Given the description of an element on the screen output the (x, y) to click on. 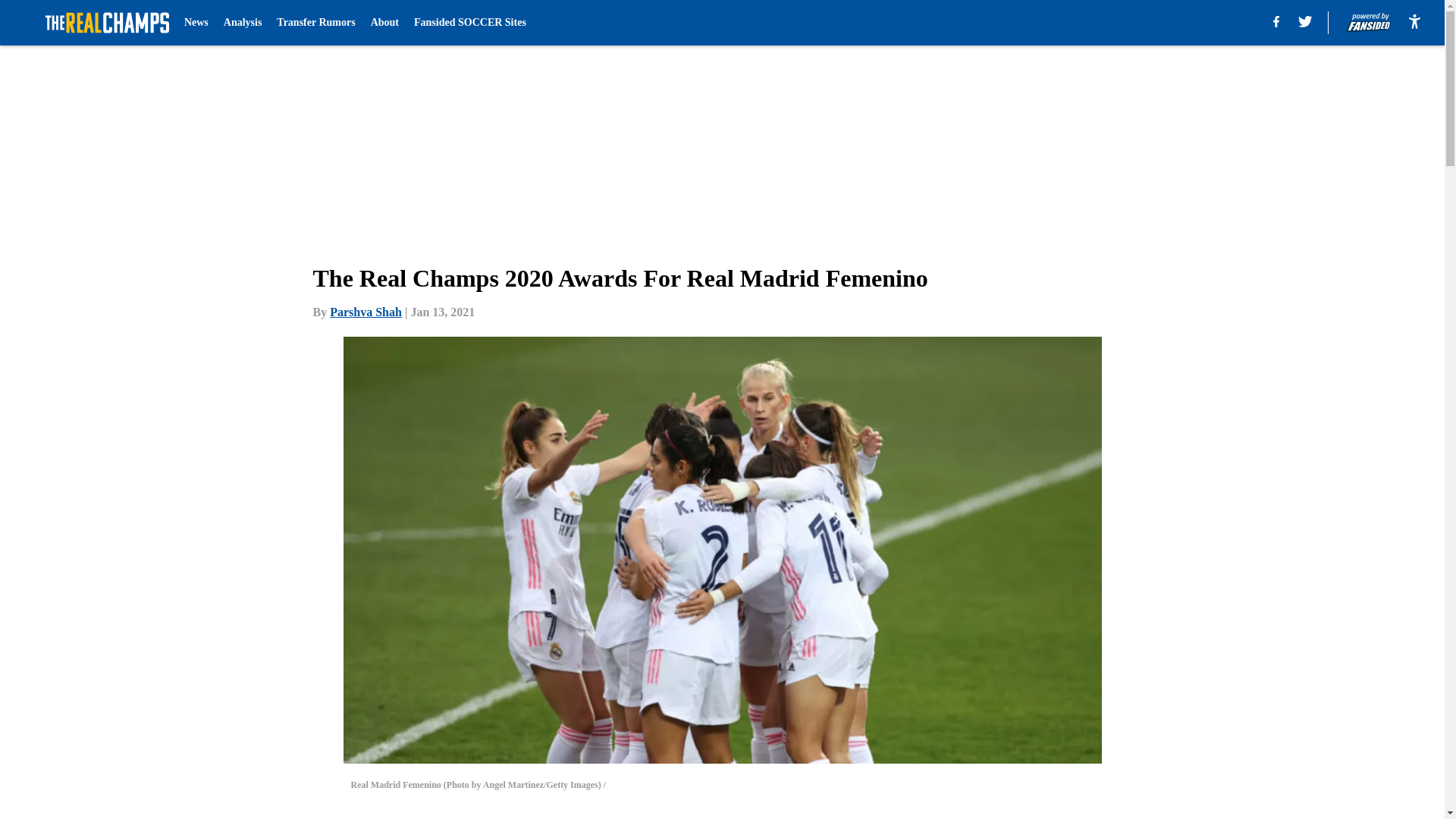
About (384, 22)
Fansided SOCCER Sites (469, 22)
News (196, 22)
Analysis (243, 22)
Parshva Shah (365, 311)
Transfer Rumors (315, 22)
